Given the description of an element on the screen output the (x, y) to click on. 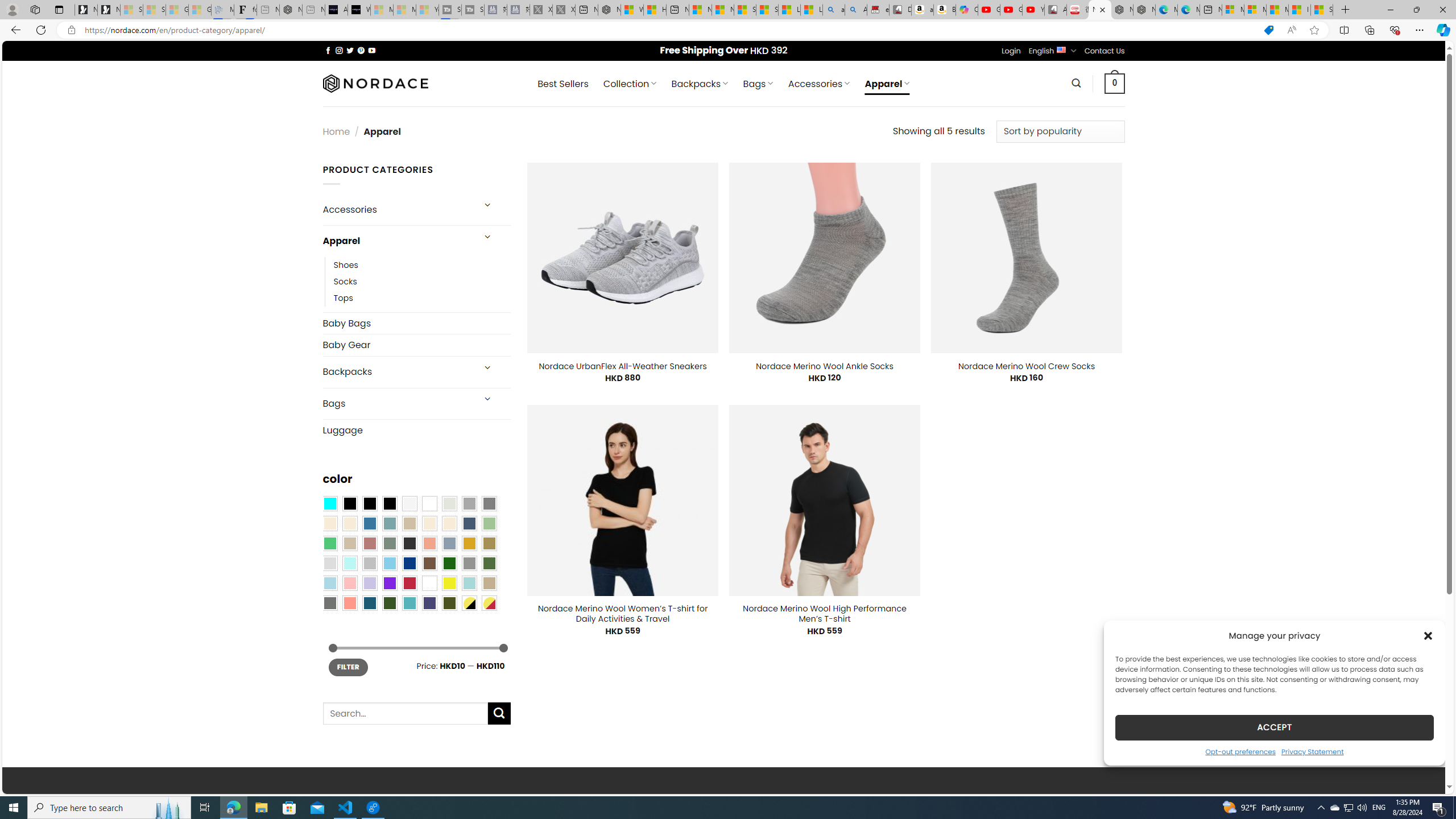
Tops (422, 297)
Aqua (468, 582)
Submit (499, 712)
Apparel (397, 241)
Shoes (345, 264)
Ash Gray (449, 503)
Baby Gear (416, 345)
I Gained 20 Pounds of Muscle in 30 Days! | Watch (1300, 9)
